Given the description of an element on the screen output the (x, y) to click on. 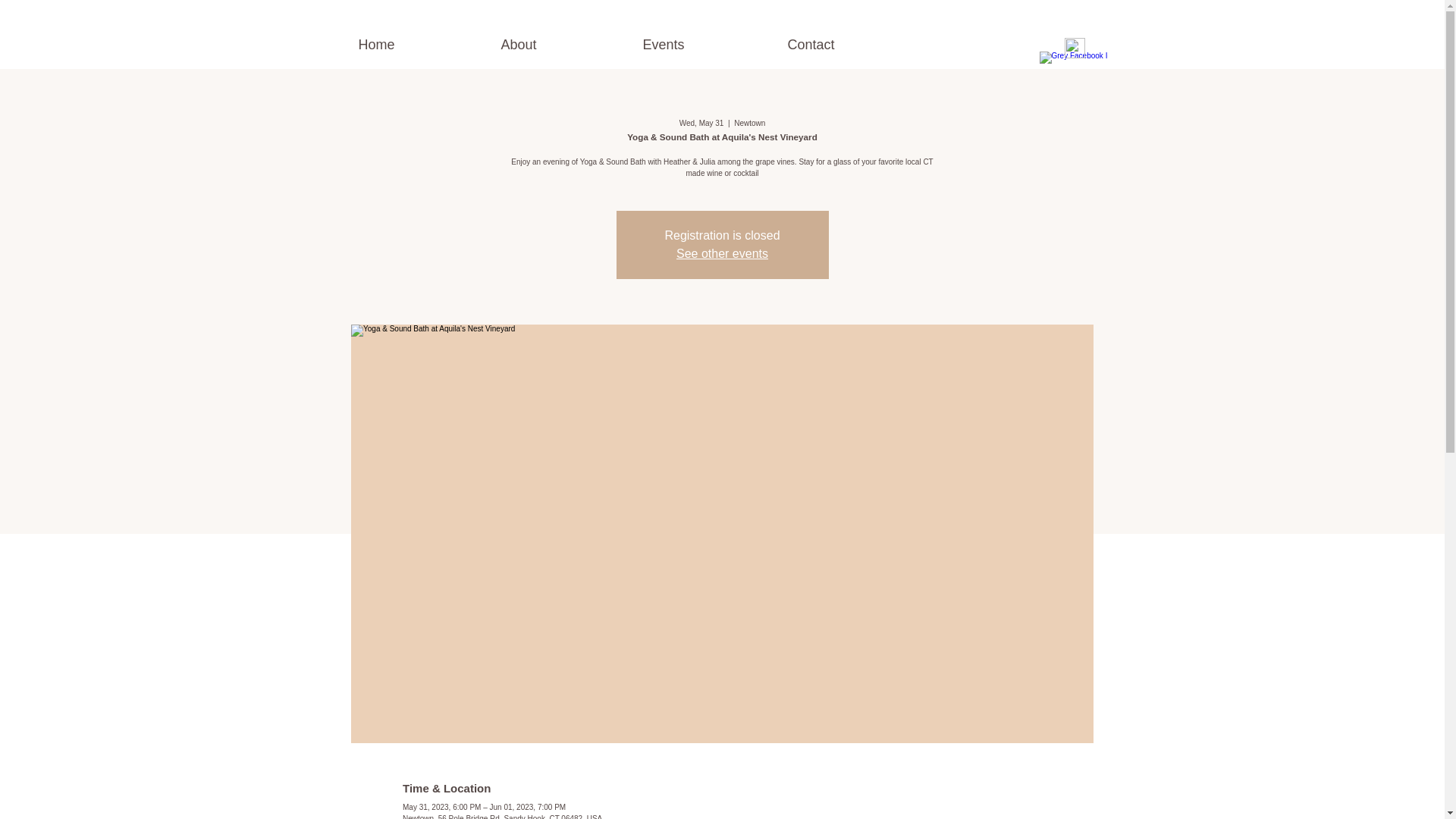
Events (707, 44)
See other events (722, 253)
Home (421, 44)
About (563, 44)
Contact (854, 44)
